Given the description of an element on the screen output the (x, y) to click on. 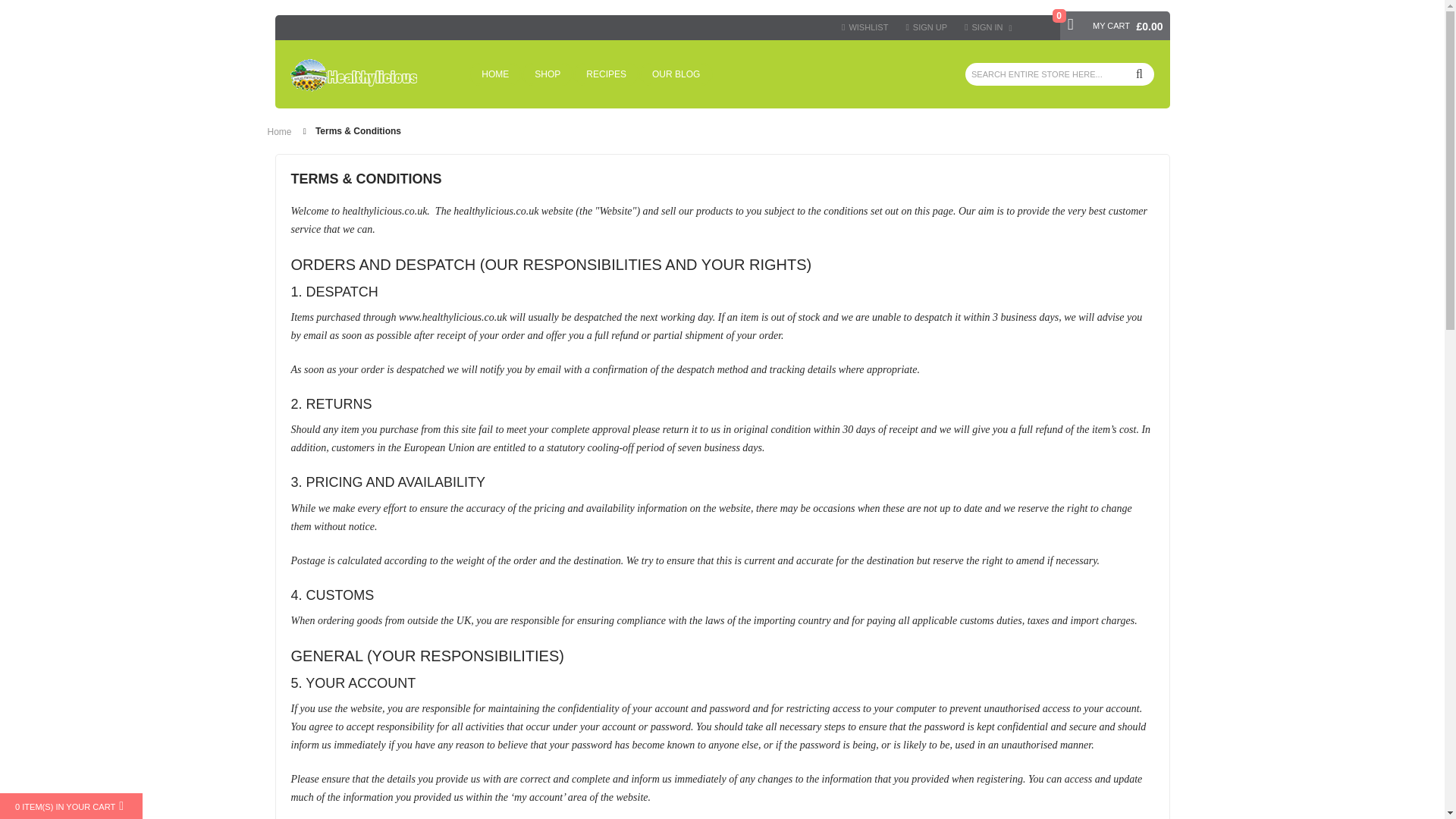
SIGN IN (988, 27)
Search (1139, 74)
SIGN UP (926, 27)
WISHLIST (864, 27)
HOME (494, 74)
SHOP (547, 74)
Healthylicious.co.uk (352, 75)
Go to Home Page (278, 131)
